Given the description of an element on the screen output the (x, y) to click on. 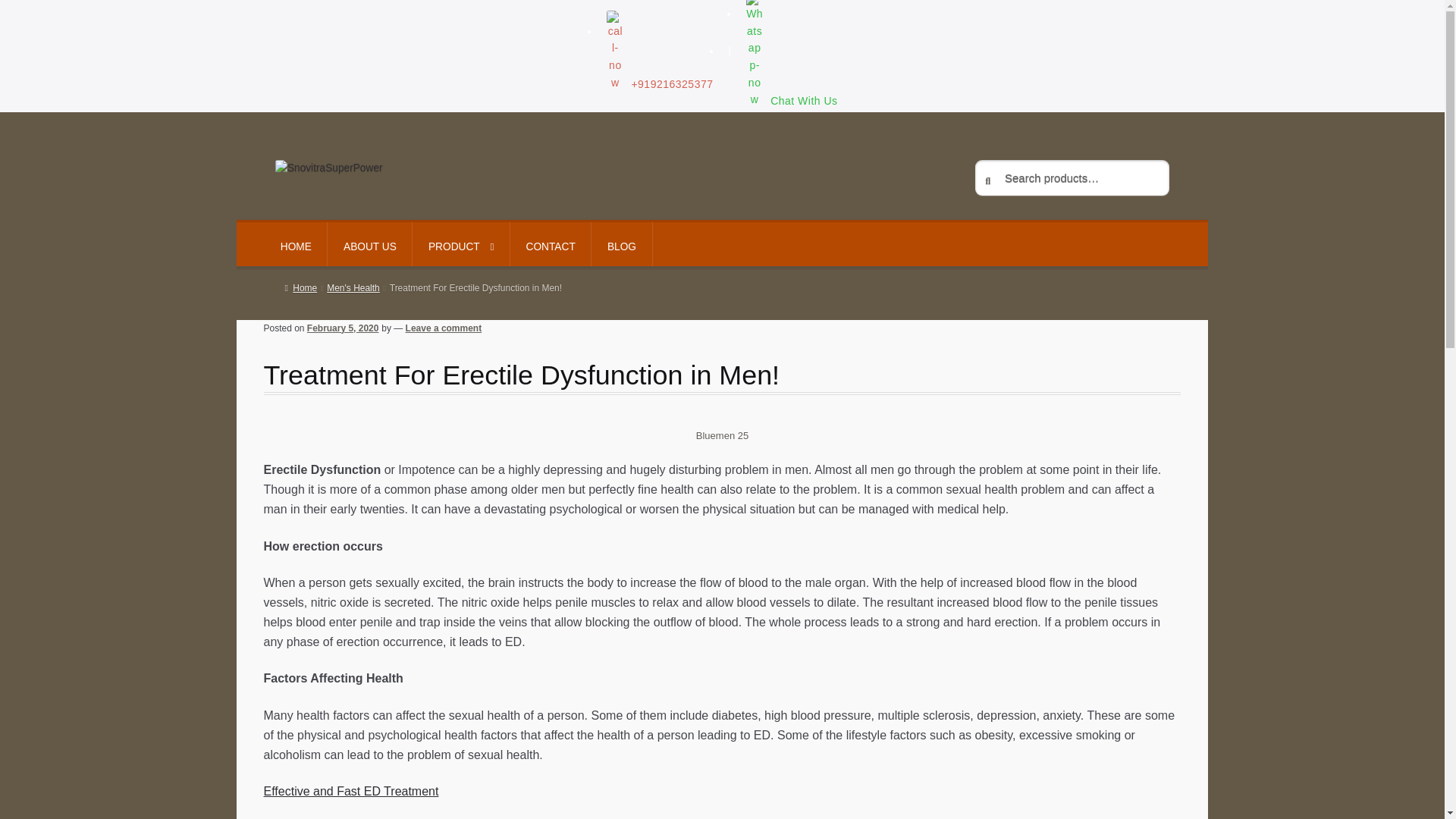
ABOUT US (369, 243)
CONTACT (551, 243)
BLOG (620, 243)
PRODUCT (460, 243)
HOME (295, 243)
